Given the description of an element on the screen output the (x, y) to click on. 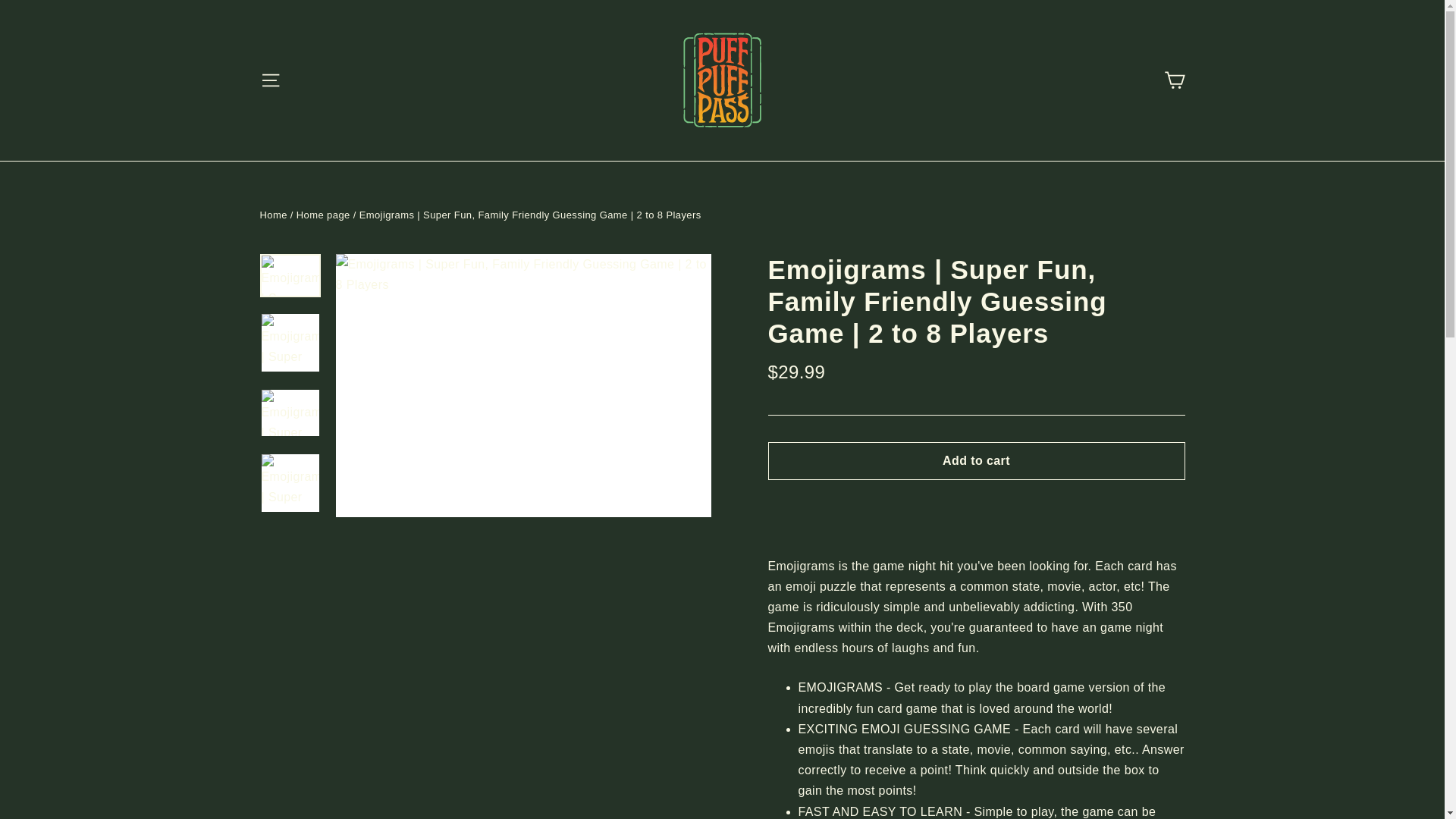
Back to the frontpage (272, 214)
Cart (1173, 79)
Home (272, 214)
Site navigation (269, 80)
Add to cart (976, 460)
Home page (323, 214)
